Given the description of an element on the screen output the (x, y) to click on. 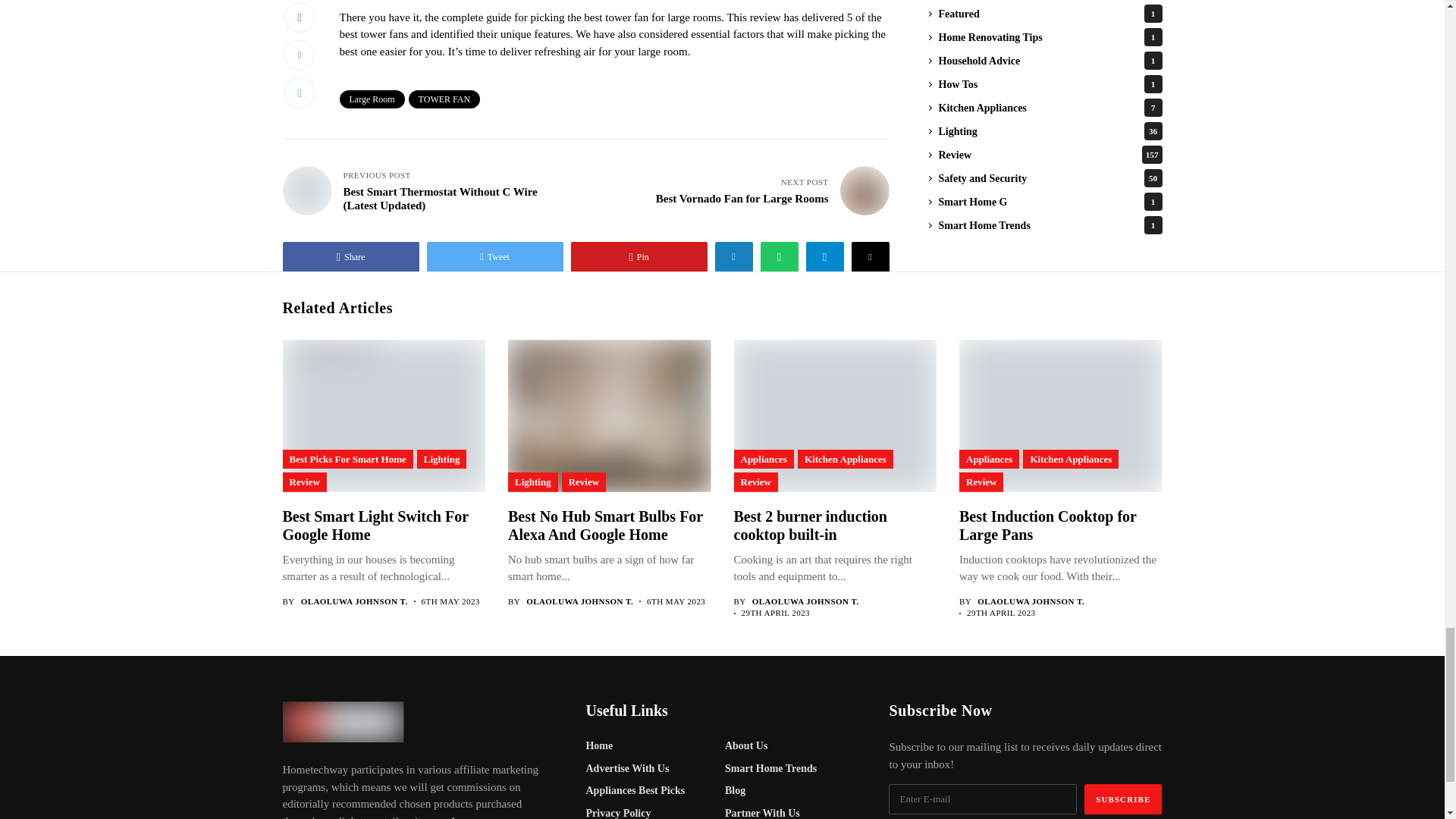
Posts by Olaoluwa Johnson T. (354, 601)
Posts by Olaoluwa Johnson T. (1030, 601)
Subscribe (1122, 798)
Posts by Olaoluwa Johnson T. (805, 601)
Posts by Olaoluwa Johnson T. (579, 601)
